Given the description of an element on the screen output the (x, y) to click on. 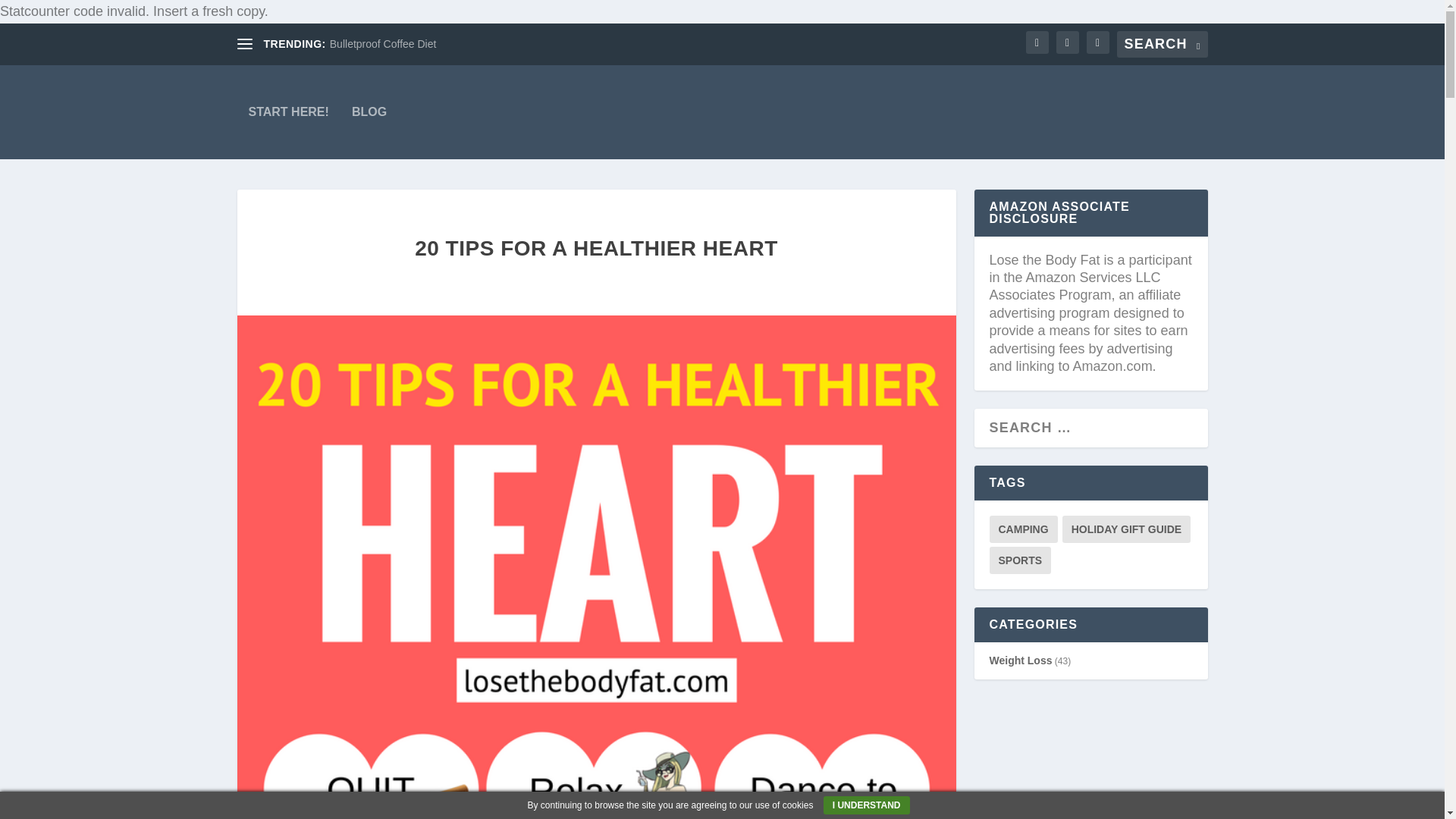
SPORTS (1019, 560)
Search for: (1161, 44)
HOLIDAY GIFT GUIDE (1126, 528)
Bulletproof Coffee Diet (383, 43)
Weight Loss (1019, 660)
CAMPING (1022, 528)
Search (37, 15)
